Given the description of an element on the screen output the (x, y) to click on. 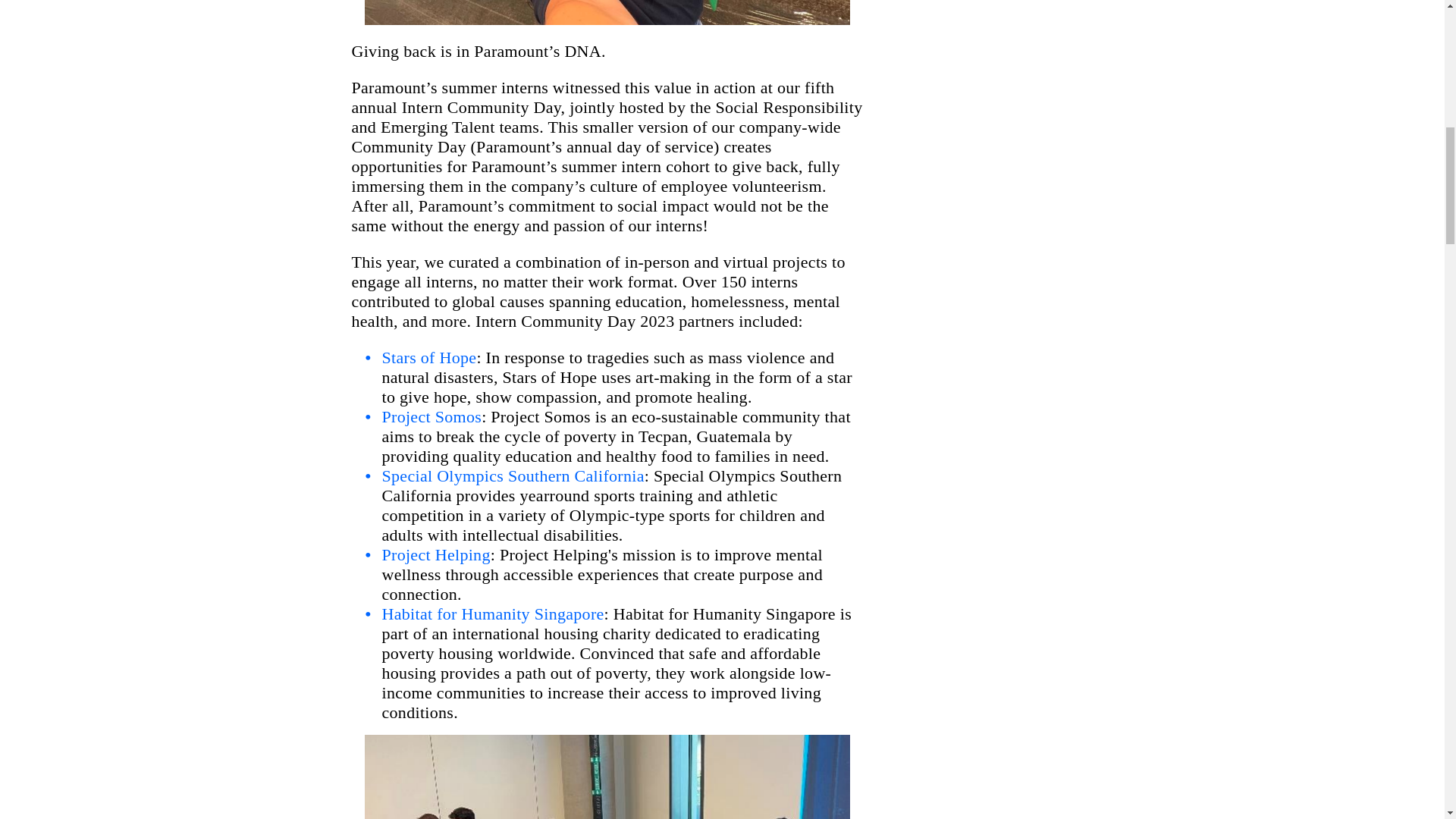
Project Helping (435, 554)
Special Olympics Southern California (513, 475)
Habitat for Humanity Singapore (492, 613)
Stars of Hope (429, 357)
Project Somos (431, 416)
